Given the description of an element on the screen output the (x, y) to click on. 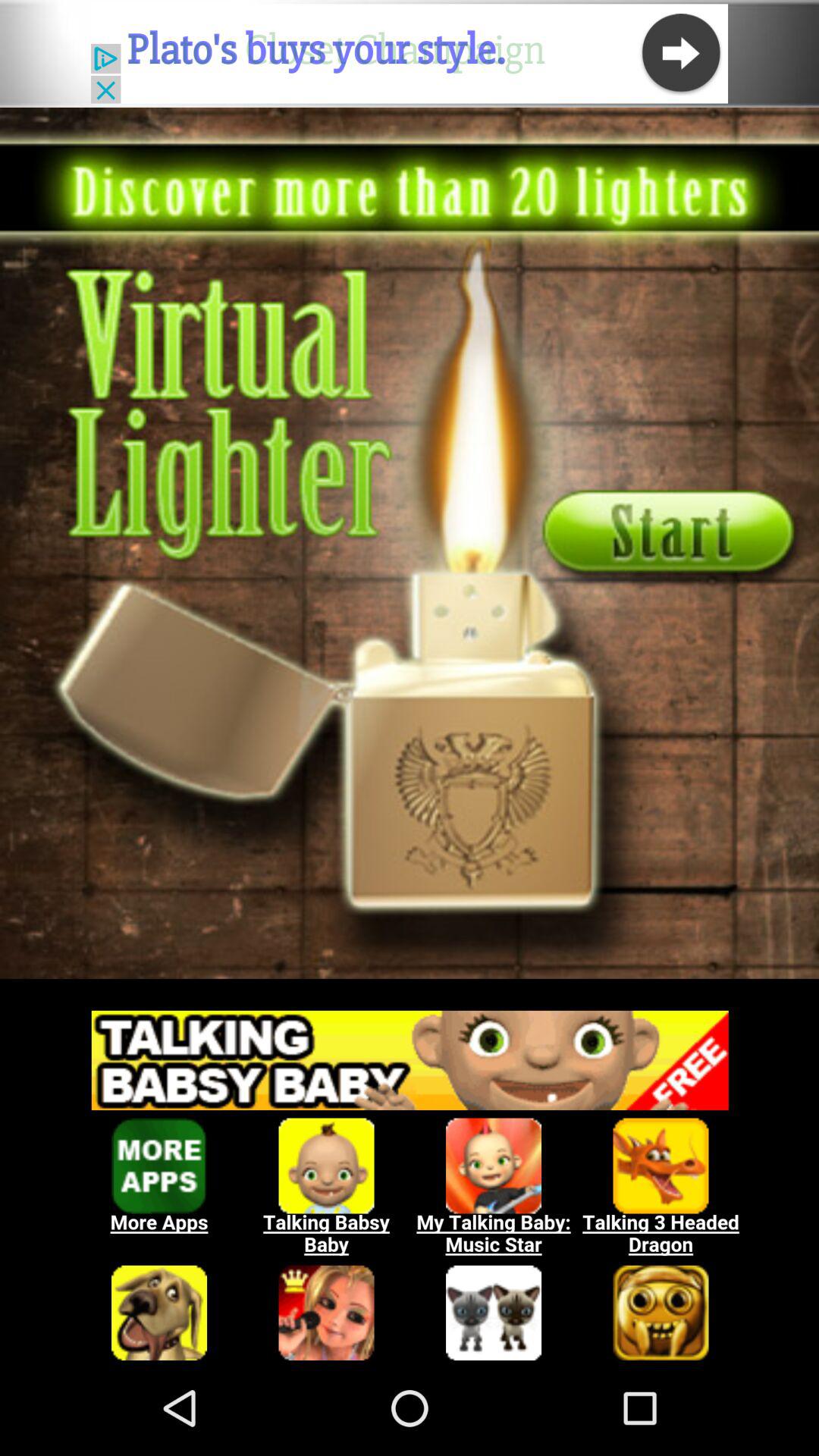
play game (409, 542)
